Given the description of an element on the screen output the (x, y) to click on. 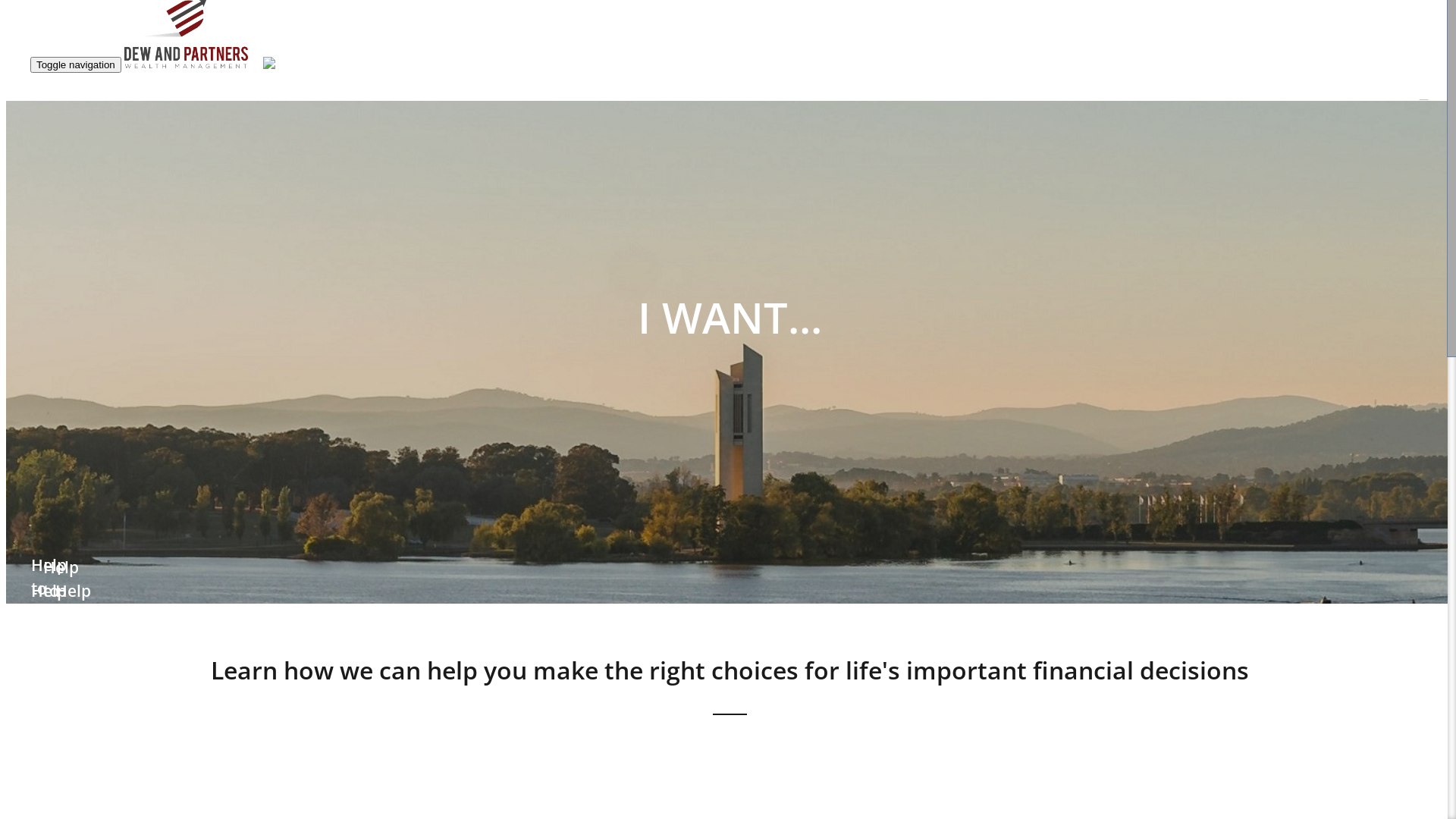
Planning your future Element type: text (1162, 132)
About us Element type: text (1132, 499)
Financial Planning in Canberra Element type: text (1188, 482)
Get Started Element type: text (1138, 551)
What to expect Element type: text (1147, 447)
Toggle navigation Element type: text (75, 64)
Contact us Element type: text (1136, 569)
